Given the description of an element on the screen output the (x, y) to click on. 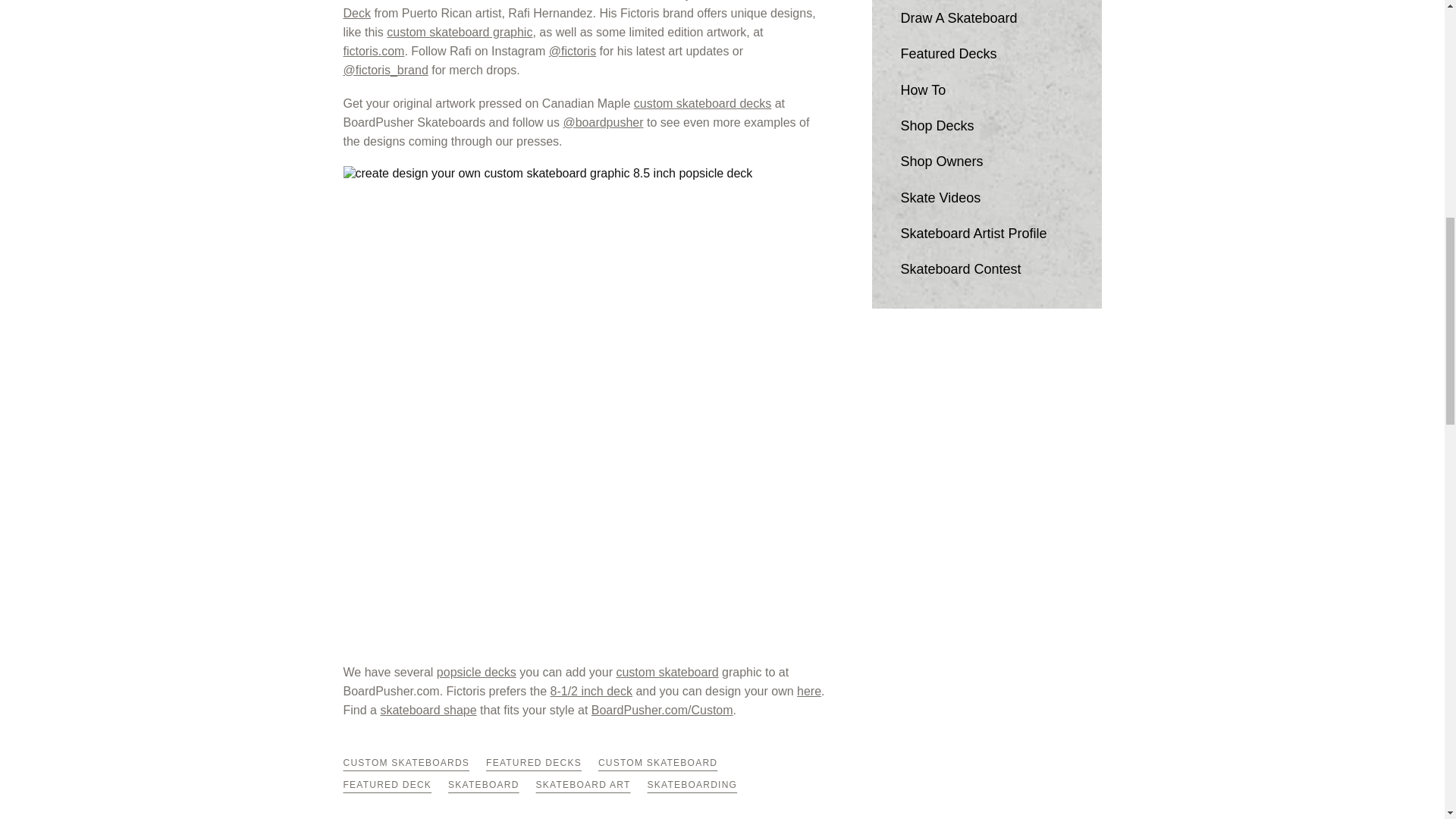
Featured Deck (575, 9)
popsicle decks (476, 671)
custom skateboard graphic (459, 31)
skateboard shape (428, 709)
here (808, 690)
CUSTOM SKATEBOARDS (405, 762)
custom skateboard (666, 671)
Drowned (645, 0)
CUSTOM SKATEBOARD (657, 762)
SKATEBOARD (483, 784)
FEATURED DECK (386, 784)
fictoris.com (373, 51)
custom skateboard decks (702, 103)
FEATURED DECKS (533, 762)
SKATEBOARD ART (582, 784)
